Given the description of an element on the screen output the (x, y) to click on. 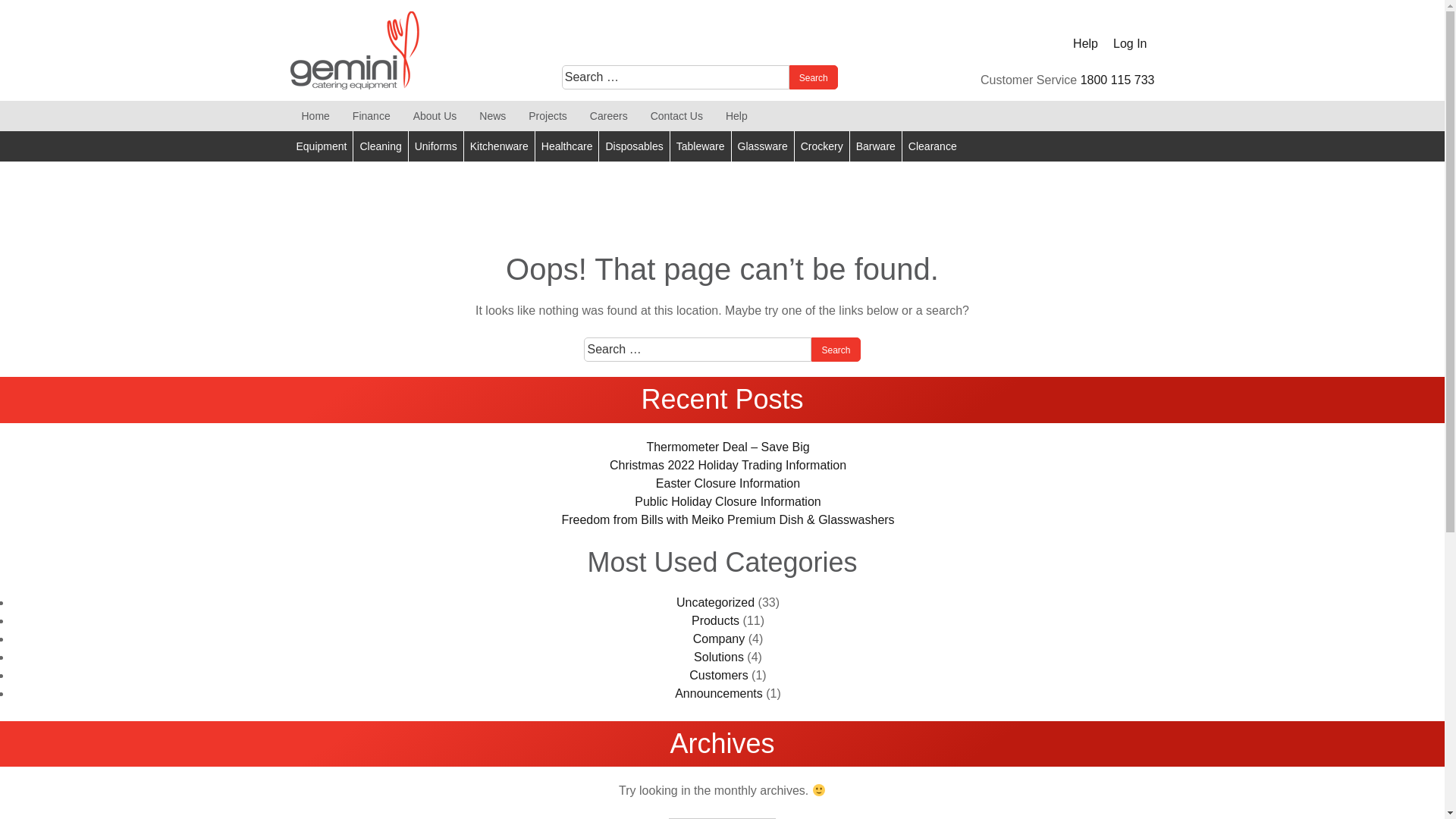
Log In Element type: text (1129, 43)
Search Element type: text (835, 349)
Products Element type: text (715, 620)
Barware Element type: text (875, 146)
Solutions Element type: text (718, 656)
Public Holiday Closure Information Element type: text (727, 501)
Contact Us Element type: text (676, 115)
Uniforms Element type: text (435, 146)
Cleaning Element type: text (379, 146)
Finance Element type: text (371, 115)
Company Element type: text (718, 638)
Freedom from Bills with Meiko Premium Dish & Glasswashers Element type: text (727, 519)
Help Element type: text (1085, 43)
Careers Element type: text (608, 115)
Healthcare Element type: text (566, 146)
Tableware Element type: text (700, 146)
Home Element type: text (314, 115)
Announcements Element type: text (718, 693)
1800 115 733 Element type: text (1117, 79)
Uncategorized Element type: text (715, 602)
Clearance Element type: text (932, 146)
Equipment Element type: text (320, 146)
Christmas 2022 Holiday Trading Information Element type: text (727, 464)
Customers Element type: text (718, 674)
Search Element type: text (813, 77)
Crockery Element type: text (821, 146)
Kitchenware Element type: text (498, 146)
Disposables Element type: text (633, 146)
Glassware Element type: text (762, 146)
Help Element type: text (736, 115)
About Us Element type: text (434, 115)
Search Element type: text (577, 325)
Easter Closure Information Element type: text (727, 482)
Projects Element type: text (547, 115)
News Element type: text (492, 115)
